Given the description of an element on the screen output the (x, y) to click on. 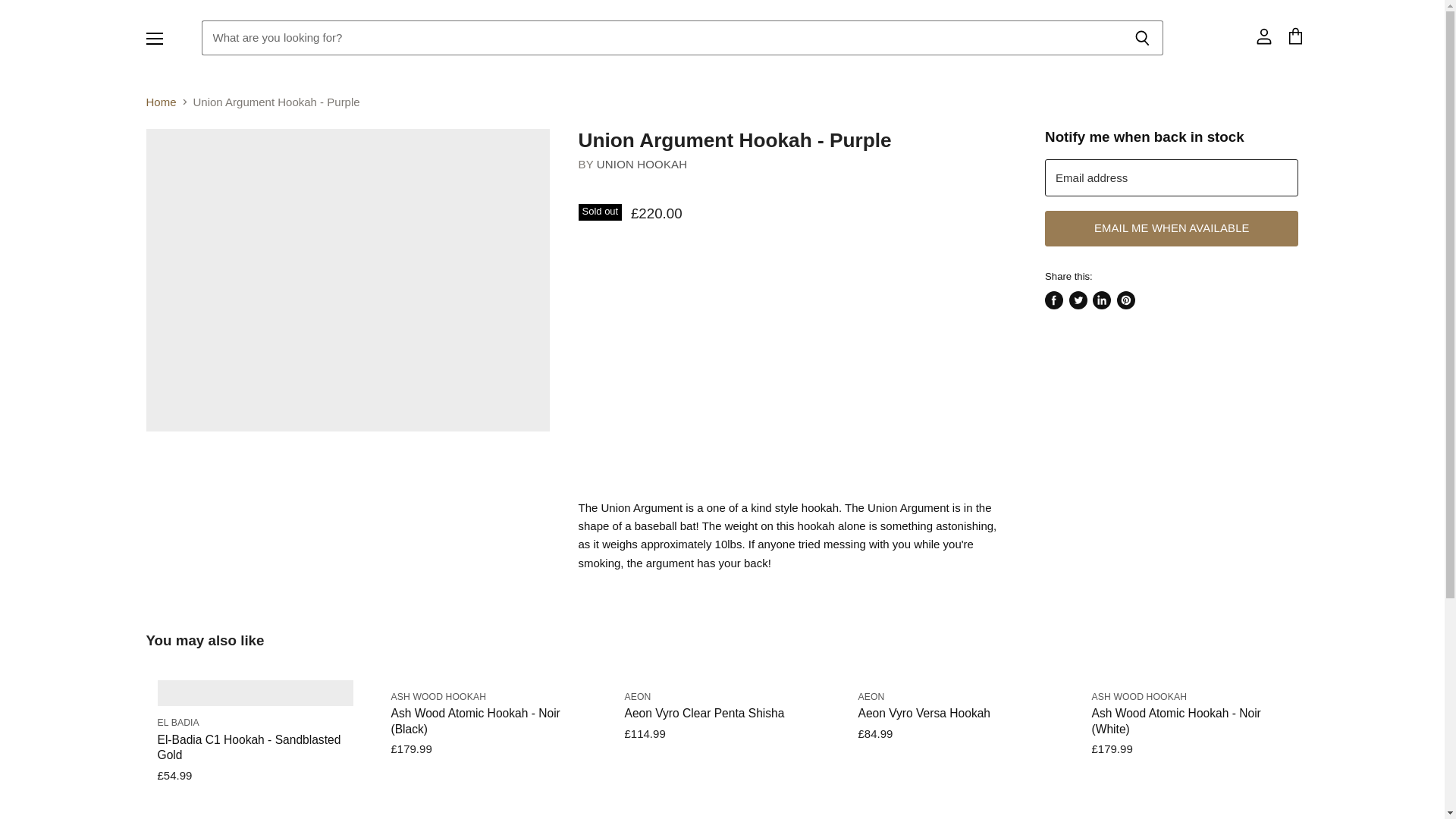
Home (160, 101)
Menu (154, 37)
Union Hookah (641, 164)
